Given the description of an element on the screen output the (x, y) to click on. 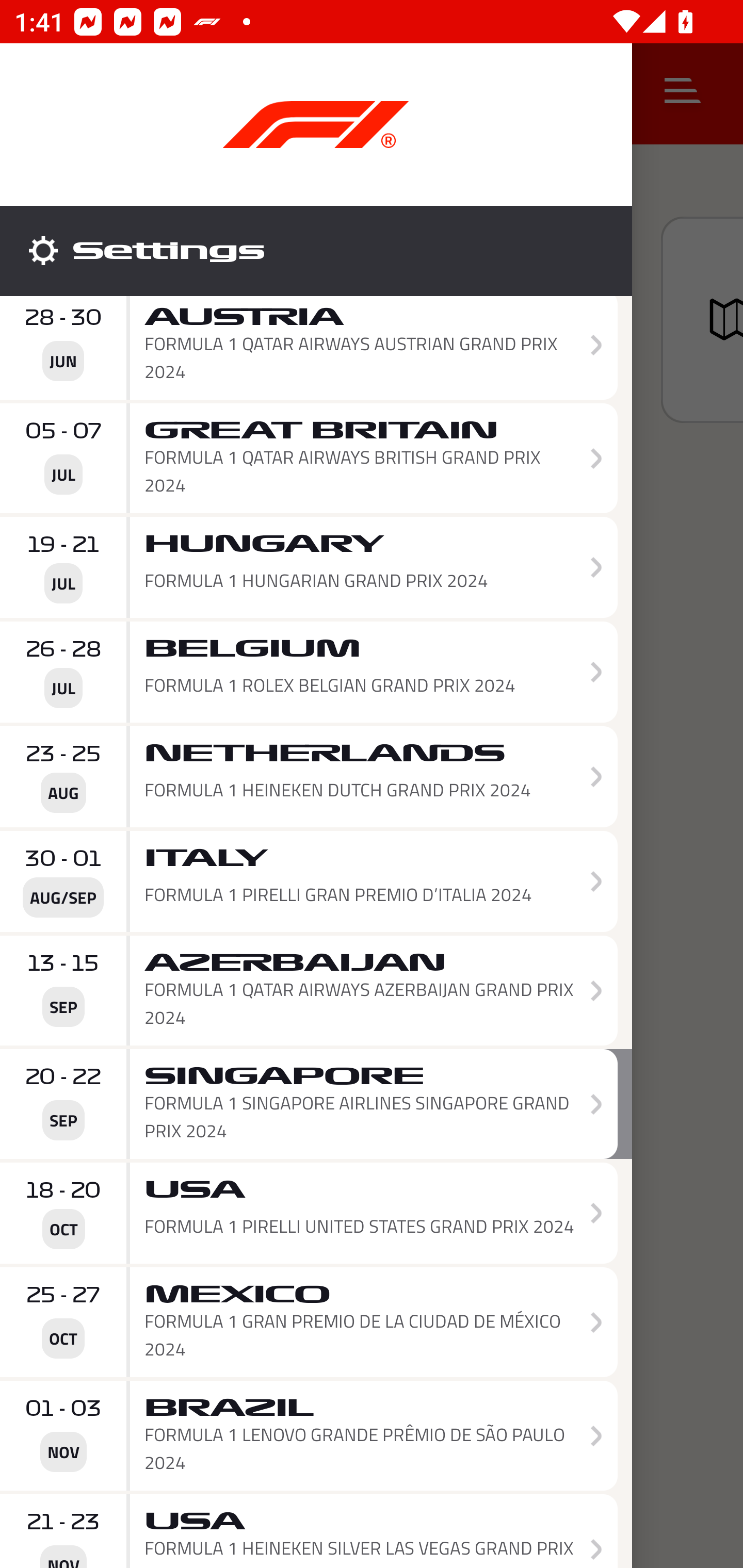
Settings (316, 250)
